Given the description of an element on the screen output the (x, y) to click on. 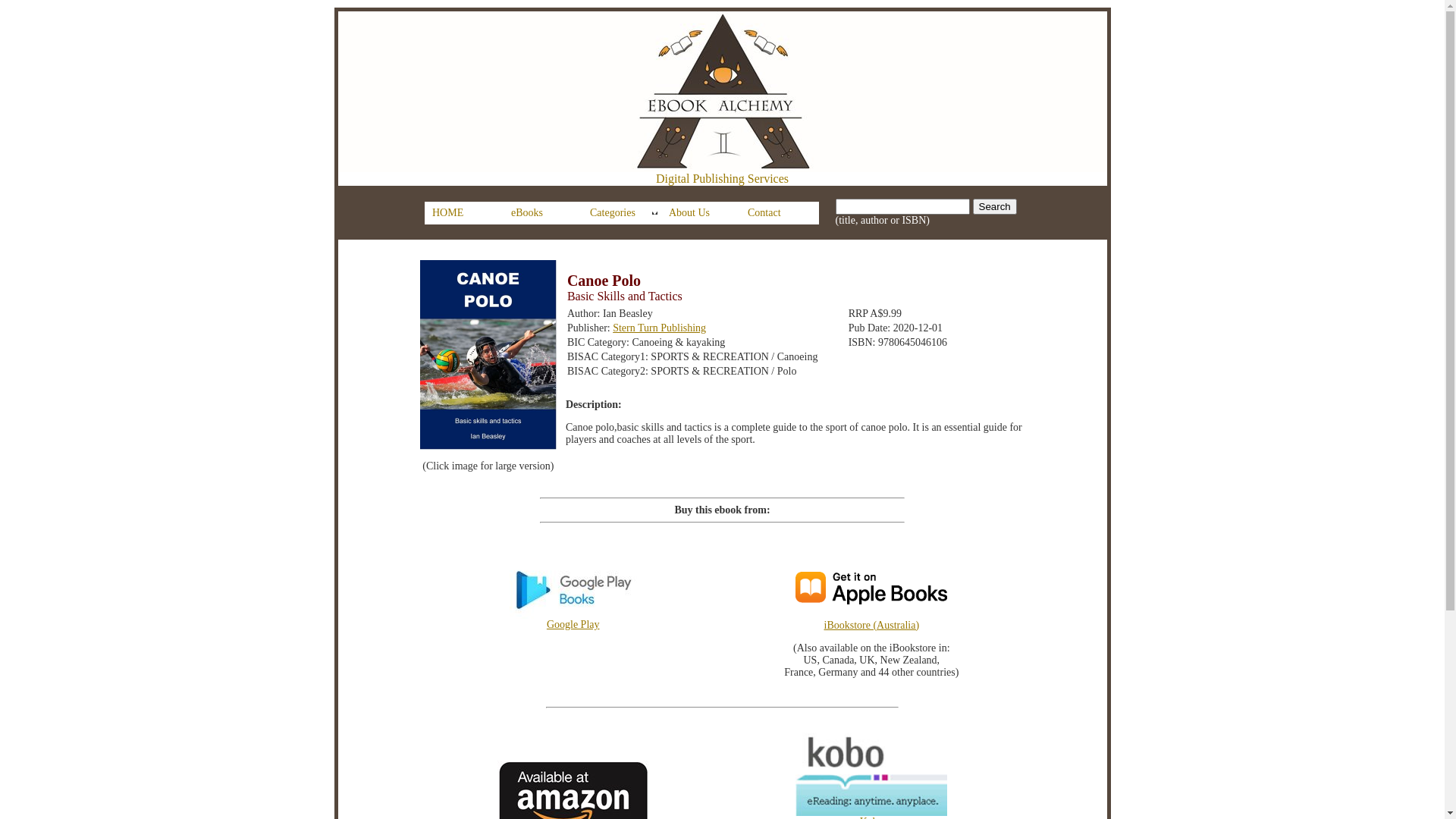
eBooks Element type: text (542, 212)
Google Play Element type: text (573, 619)
Search Element type: text (994, 206)
iBookstore (Australia) Element type: text (885, 637)
Contact Element type: text (779, 212)
Categories Element type: text (621, 212)
Stern Turn Publishing Element type: text (659, 327)
About Us Element type: text (700, 212)
HOME Element type: text (463, 212)
